Given the description of an element on the screen output the (x, y) to click on. 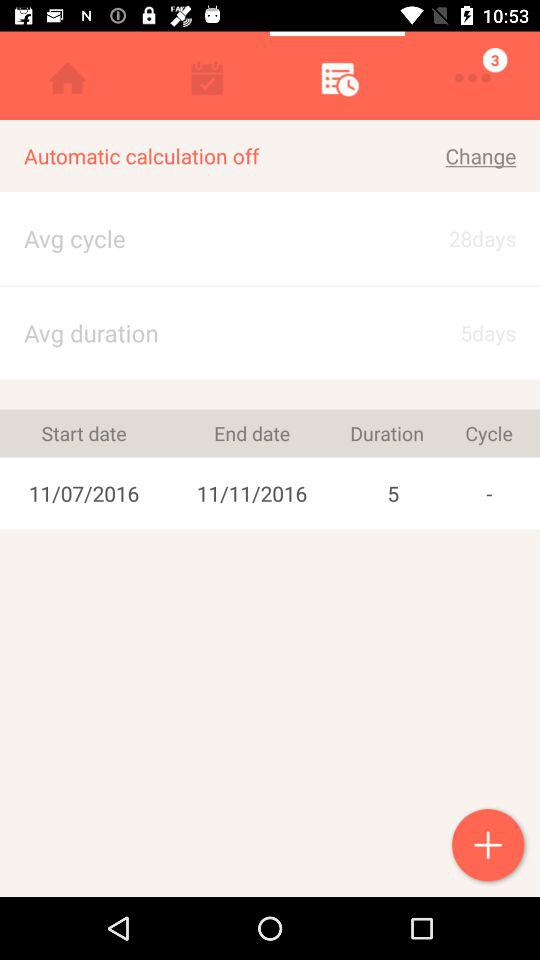
turn on item at the bottom right corner (490, 847)
